Given the description of an element on the screen output the (x, y) to click on. 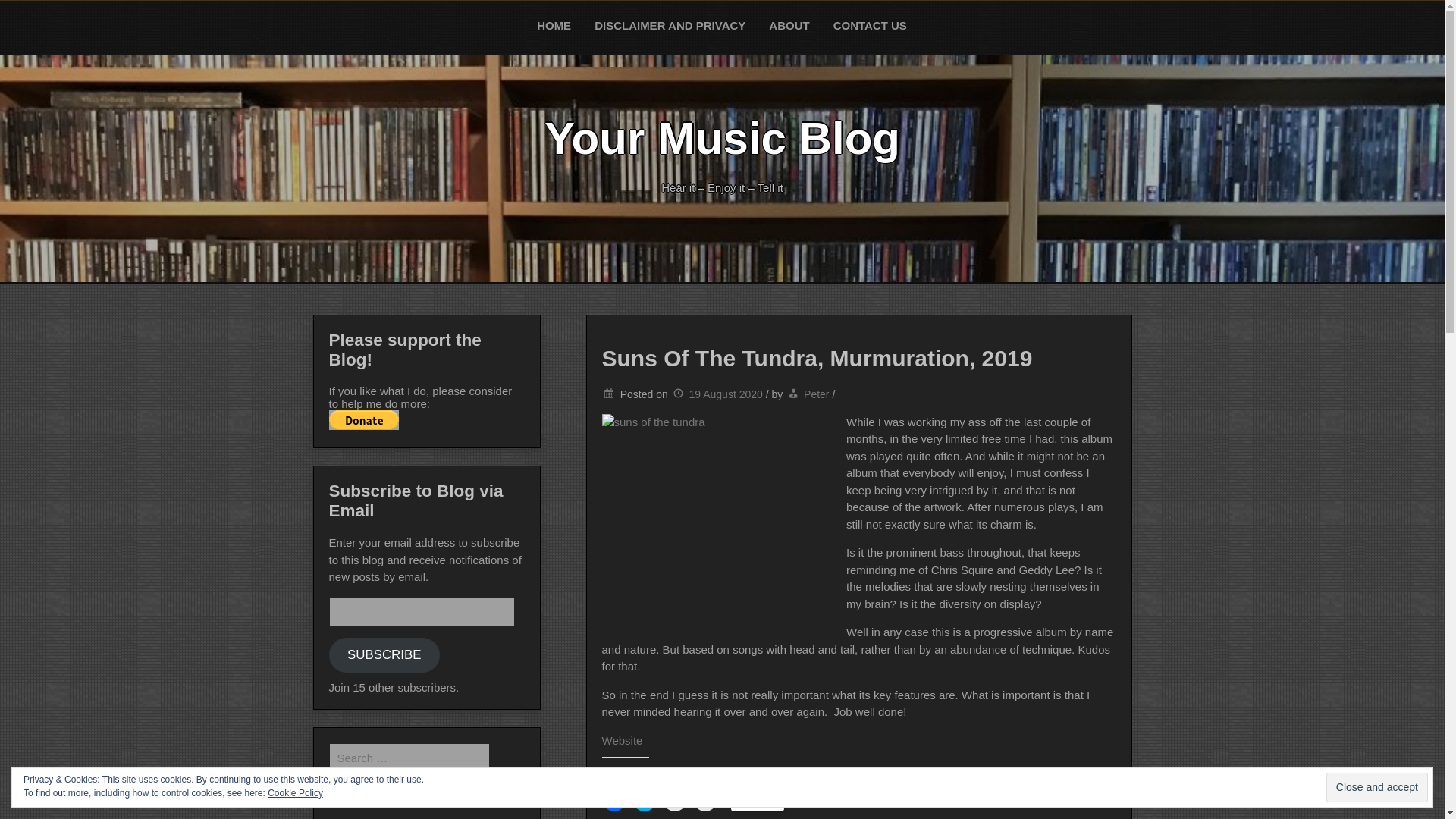
Click to print (674, 799)
Click to email a link to a friend (705, 799)
More (757, 799)
Peter (815, 394)
19 August 2020 (716, 394)
Website (622, 739)
Click to share on Facebook (614, 799)
Close and accept (1377, 787)
Your Music Blog (721, 138)
CONTACT US (870, 25)
